Given the description of an element on the screen output the (x, y) to click on. 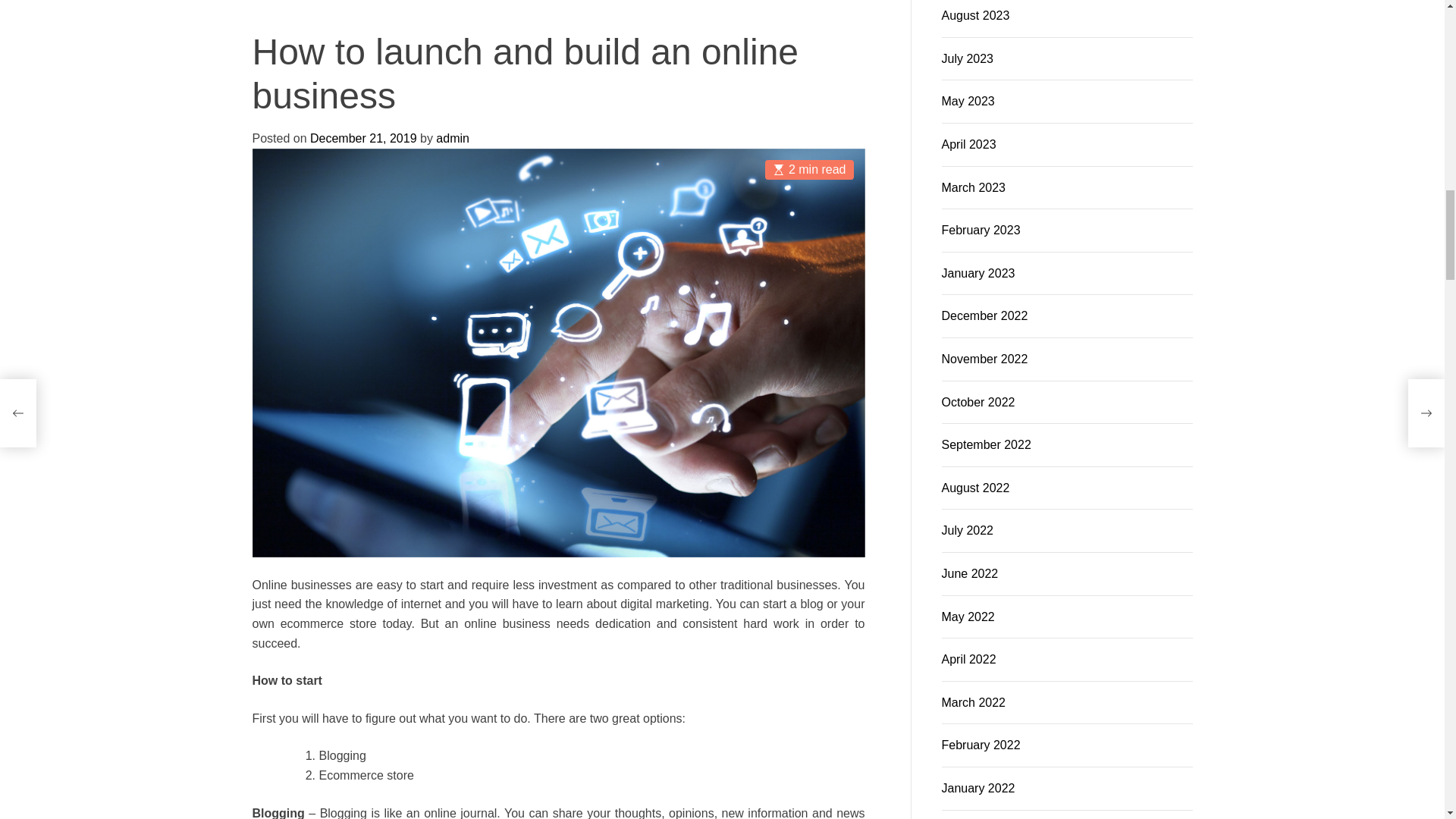
admin (404, 139)
admin (710, 139)
admin (609, 292)
